Given the description of an element on the screen output the (x, y) to click on. 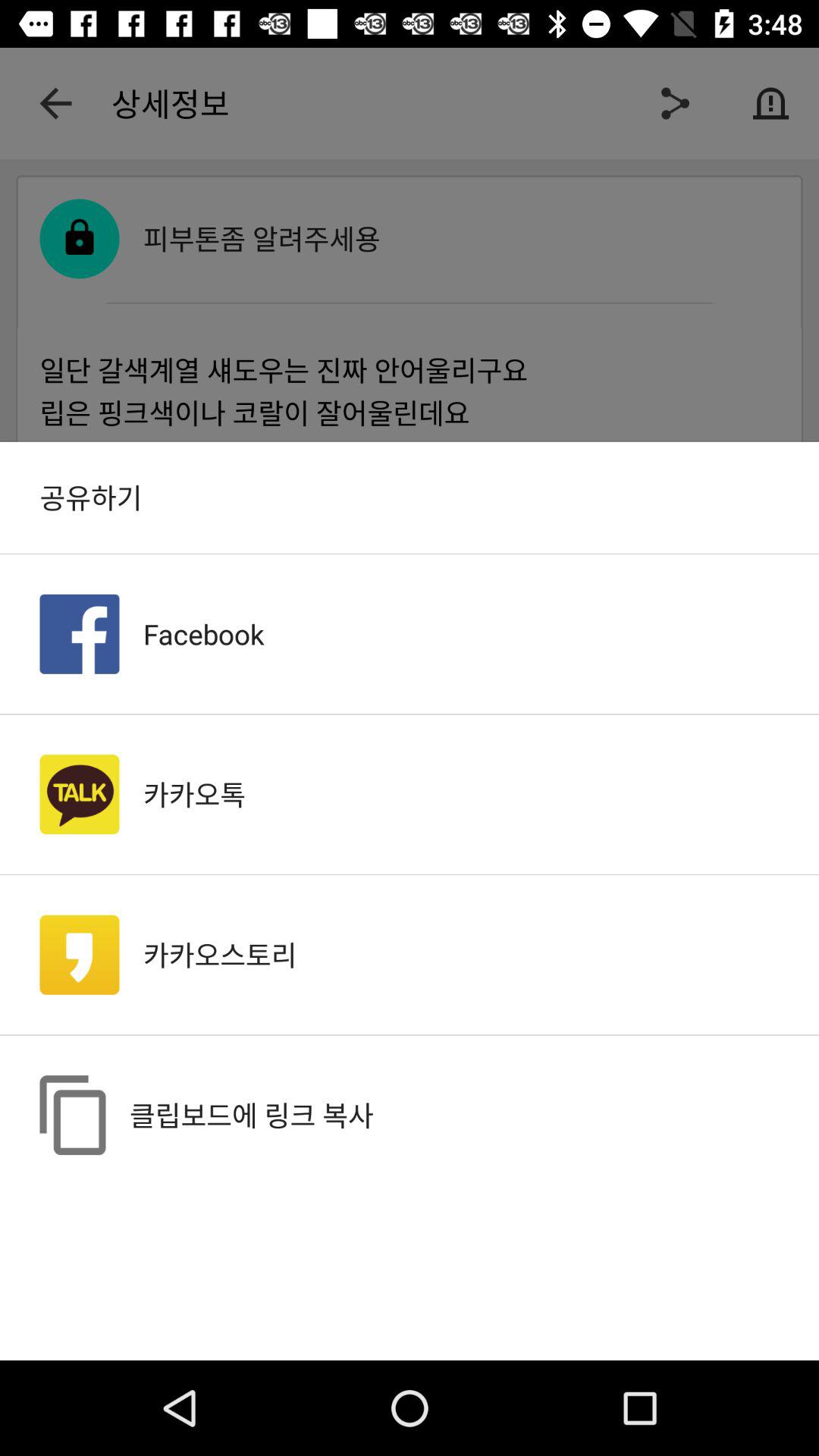
launch item to the left of facebook (79, 633)
